Given the description of an element on the screen output the (x, y) to click on. 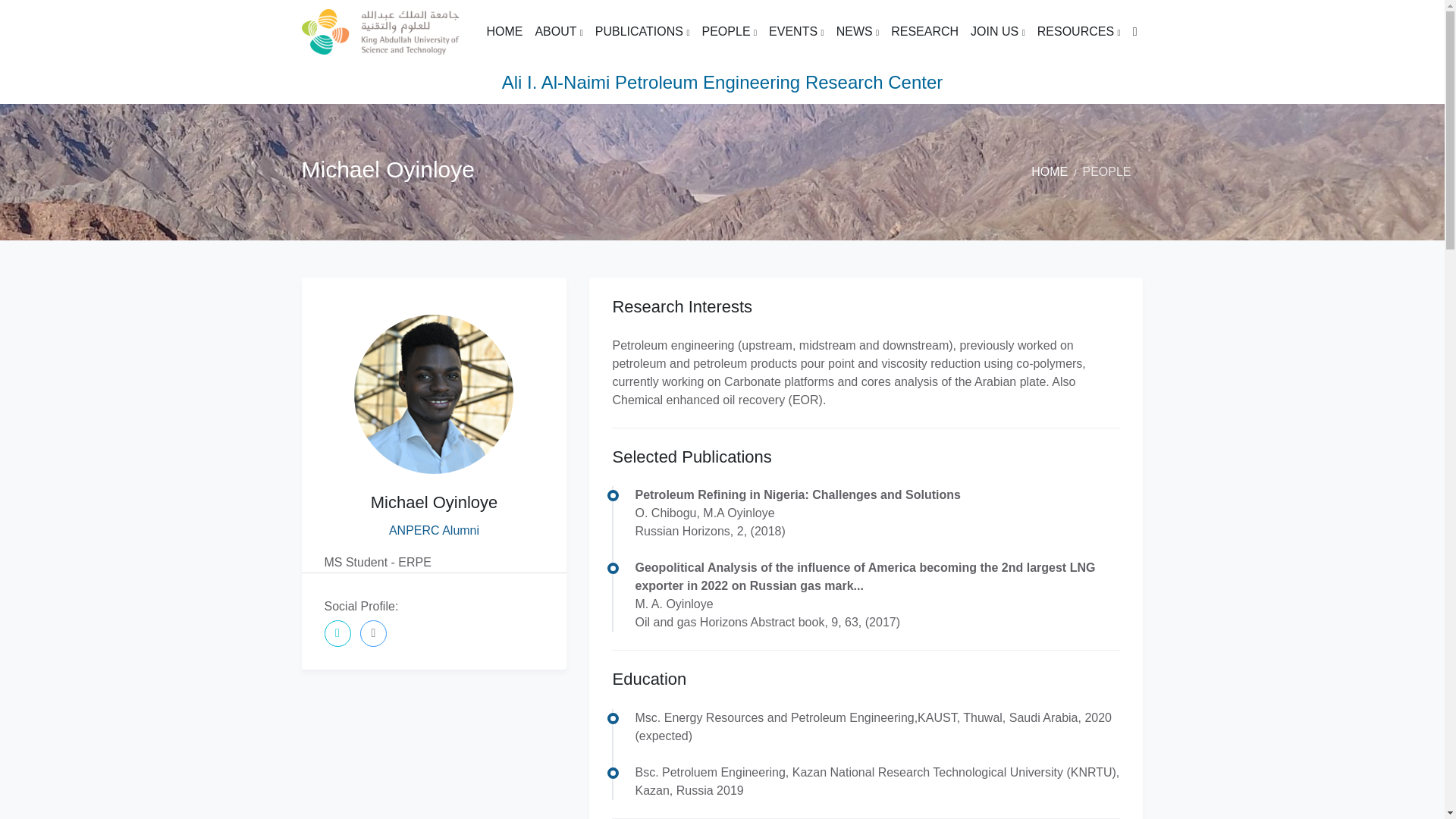
PEOPLE (728, 31)
ABOUT (558, 31)
PUBLICATIONS (642, 31)
EVENTS (795, 31)
